Given the description of an element on the screen output the (x, y) to click on. 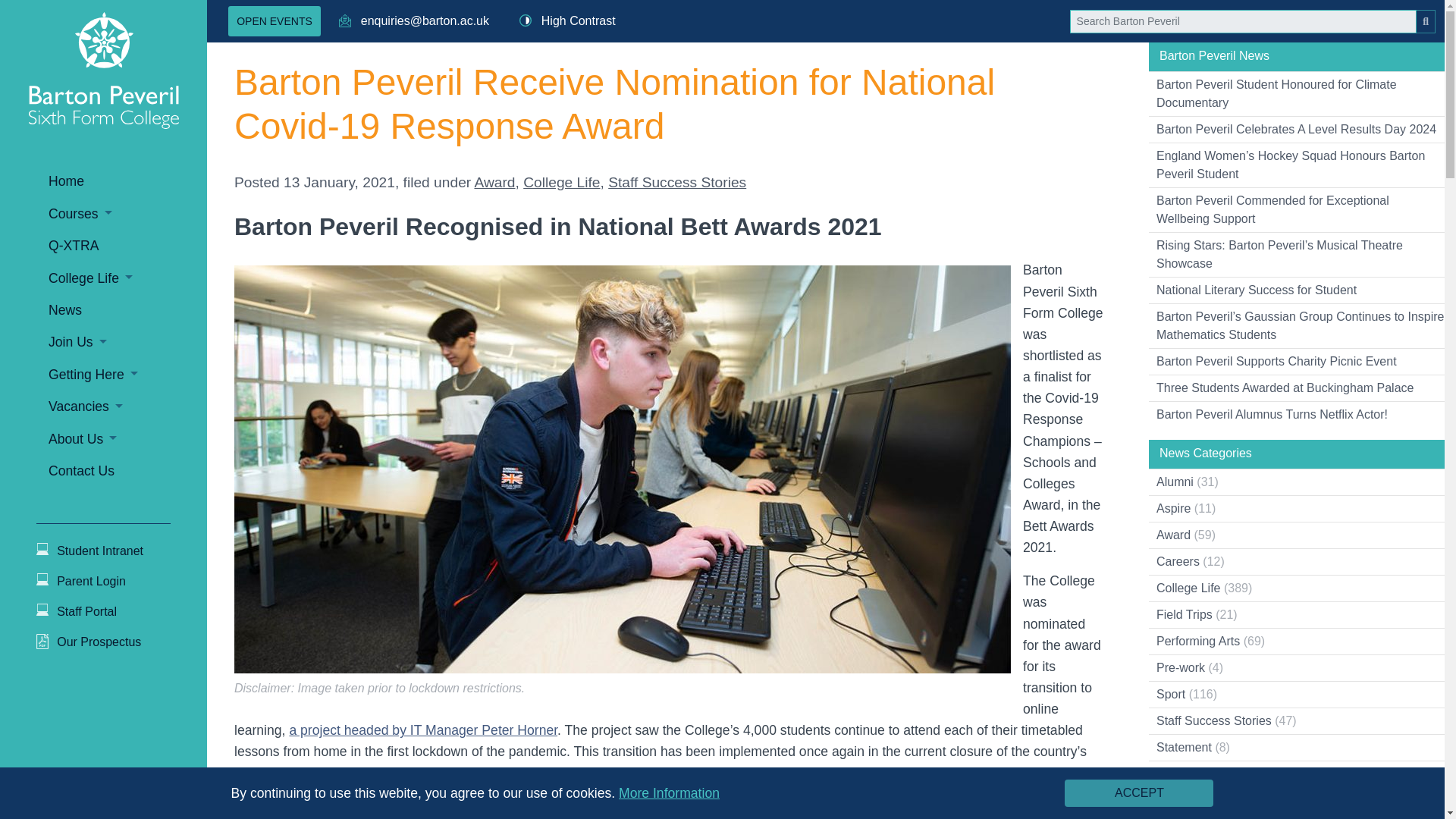
College Life (127, 278)
Vacancies (127, 406)
Join Us (127, 341)
News (127, 309)
Q-XTRA (127, 245)
Home (127, 181)
Getting Here (127, 374)
Courses (127, 214)
